Given the description of an element on the screen output the (x, y) to click on. 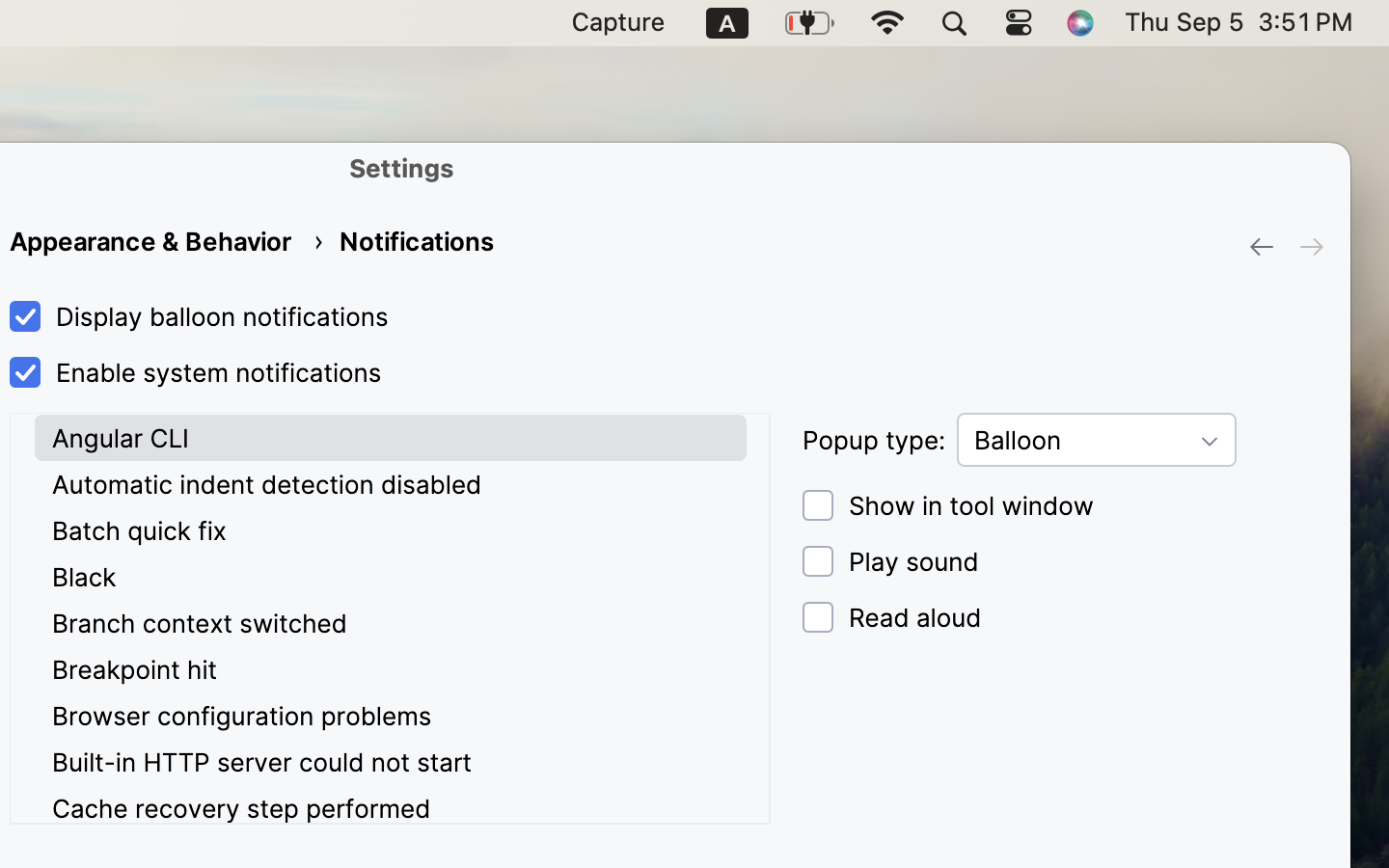
1 Element type: AXCheckBox (194, 317)
Settings Element type: AXStaticText (402, 167)
Balloon Element type: AXPopUpButton (1096, 439)
